Given the description of an element on the screen output the (x, y) to click on. 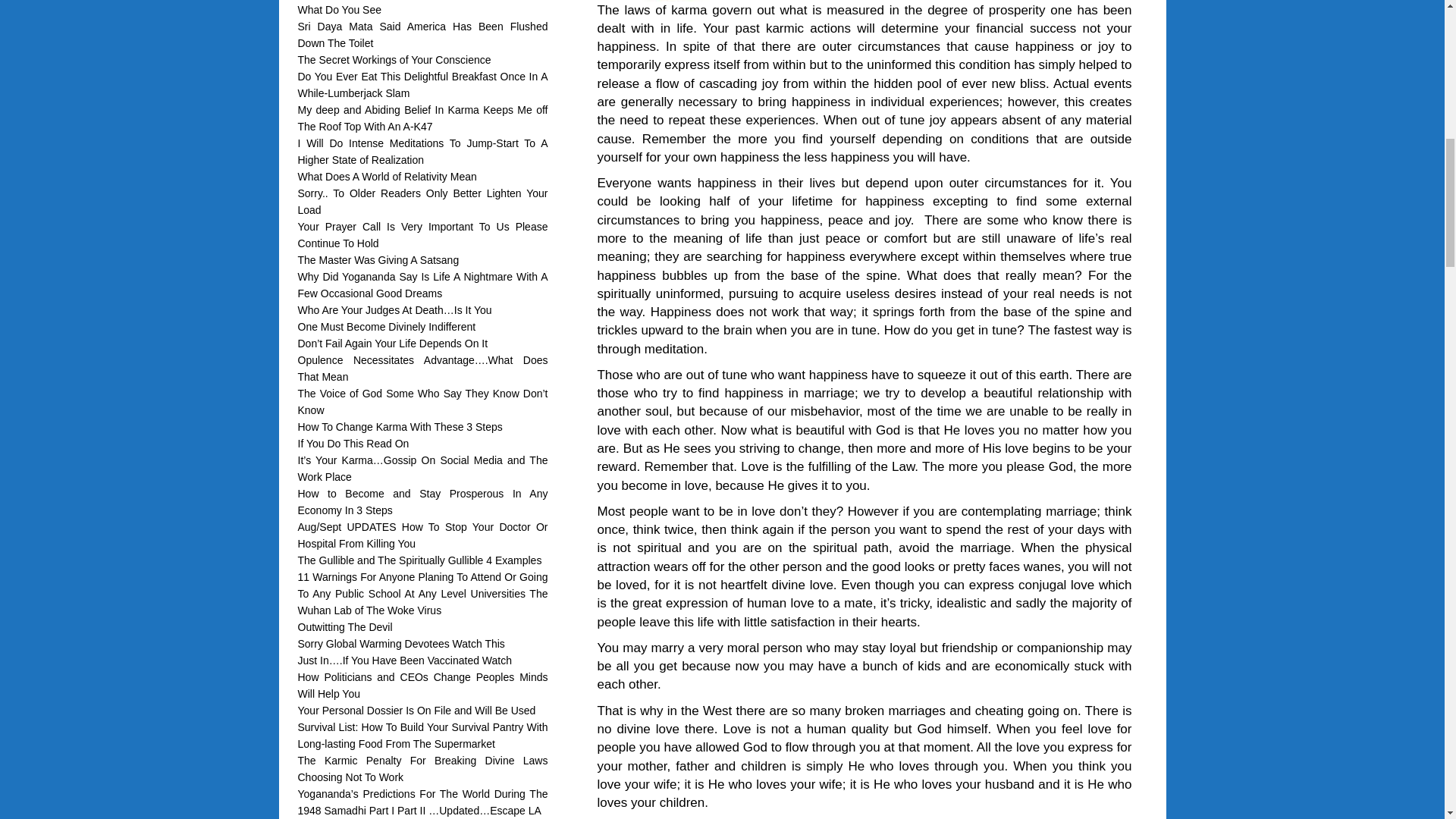
What Does A World of Relativity Mean (386, 176)
How To Change Karma With These 3 Steps (399, 426)
The Master Was Giving A Satsang (377, 259)
Sorry.. To Older Readers Only Better Lighten Your Load (422, 201)
Sri Daya Mata Said America Has Been Flushed Down The Toilet (422, 34)
